Given the description of an element on the screen output the (x, y) to click on. 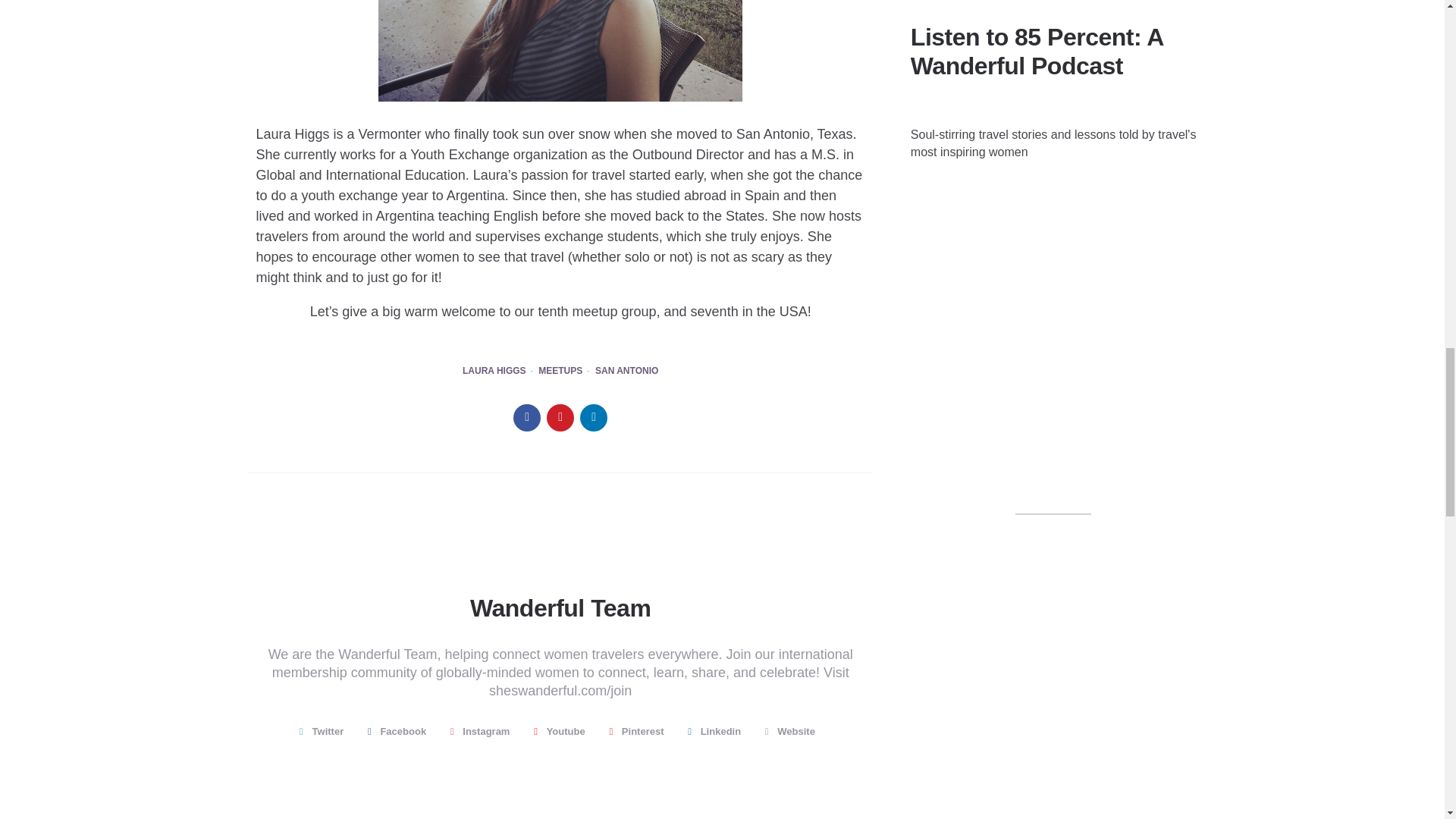
Youtube (561, 731)
Linkedin (717, 731)
SAN ANTONIO (626, 371)
MEETUPS (560, 371)
Pinterest (639, 731)
Facebook (400, 731)
LAURA HIGGS (494, 371)
Instagram (483, 731)
Twitter (324, 731)
